Given the description of an element on the screen output the (x, y) to click on. 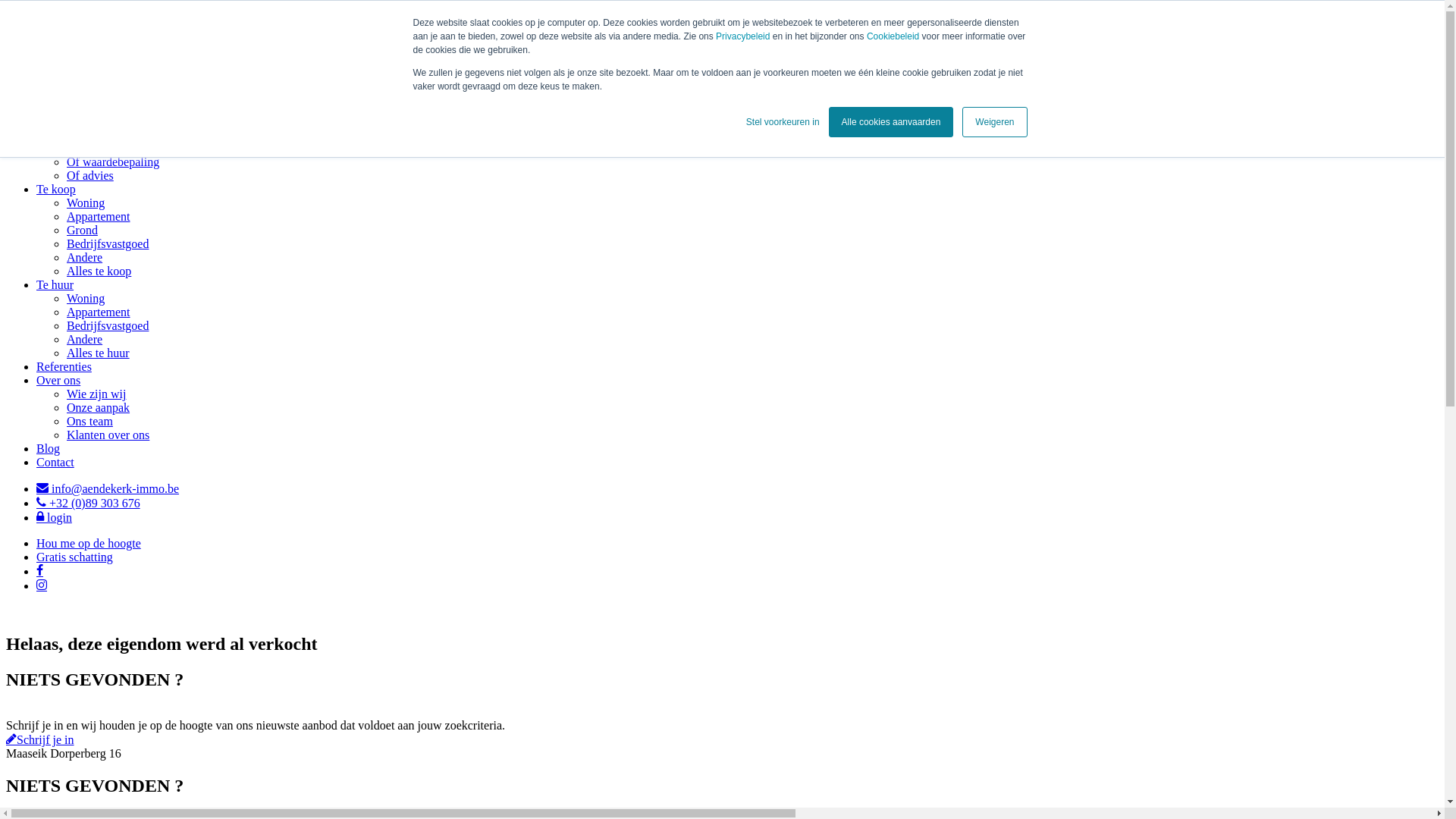
Te koop Element type: text (55, 188)
Andere Element type: text (84, 257)
Grond Element type: text (81, 229)
Of aankoopbegeleiding Element type: text (123, 147)
Bedrijfsvastgoed Element type: text (107, 325)
Privacybeleid Element type: text (743, 36)
Wie zijn wij Element type: text (95, 393)
Andere Element type: text (84, 338)
Over ons Element type: text (58, 379)
meest recente internetbrowser te installeren Element type: text (221, 25)
Gratis schatting Element type: text (74, 556)
Contact Element type: text (55, 461)
Referenties Element type: text (63, 366)
Of waardebepaling Element type: text (112, 161)
Weigeren Element type: text (994, 121)
info@aendekerk-immo.be Element type: text (107, 488)
Hou me op de hoogte Element type: text (88, 542)
Alles te huur Element type: text (97, 352)
+32 (0)89 303 676 Element type: text (88, 502)
Ons team Element type: text (89, 420)
login Element type: text (54, 517)
Blog Element type: text (47, 448)
Menu Element type: text (24, 80)
Cookiebeleid Element type: text (894, 36)
Stel voorkeuren in Element type: text (782, 121)
Alle cookies aanvaarden Element type: text (890, 121)
Appartement Element type: text (98, 311)
Of advies Element type: text (89, 175)
Home Element type: text (50, 106)
Woning Element type: text (85, 297)
Appartement Element type: text (98, 216)
Bedrijfsvastgoed Element type: text (107, 243)
Woning Element type: text (85, 202)
Link homepage Element type: hover (84, 53)
Klanten over ons Element type: text (107, 434)
Of verhuren Element type: text (95, 134)
Verkopen Element type: text (59, 120)
Alles te koop Element type: text (98, 270)
Schrijf je in Element type: text (40, 739)
Onze aanpak Element type: text (97, 407)
Te huur Element type: text (54, 284)
